Given the description of an element on the screen output the (x, y) to click on. 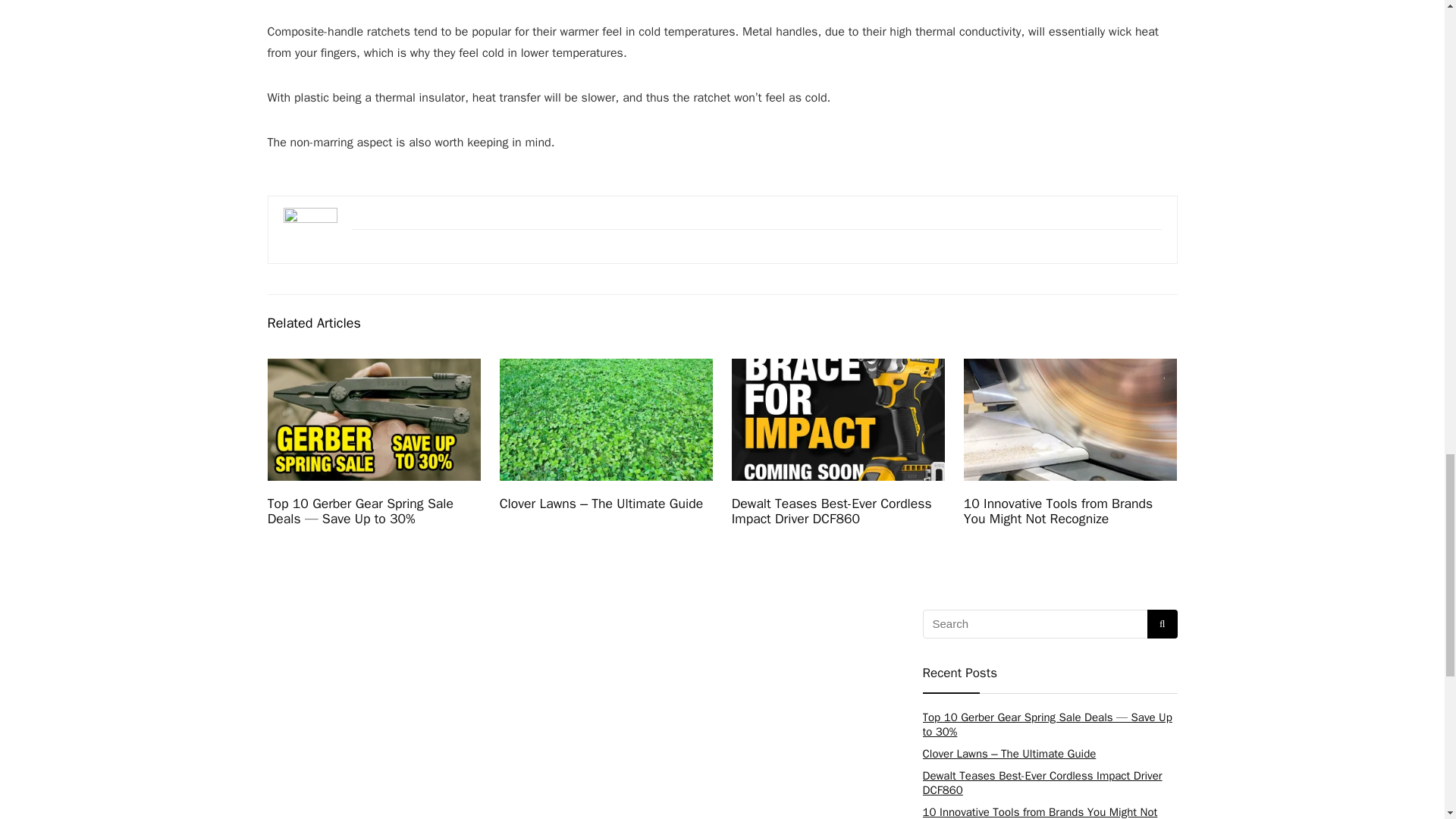
Dewalt Teases Best-Ever Cordless Impact Driver DCF860 (1041, 782)
10 Innovative Tools from Brands You Might Not Recognize (1058, 511)
10 Innovative Tools from Brands You Might Not Recognize (1039, 812)
Dewalt Teases Best-Ever Cordless Impact Driver DCF860 (831, 511)
